Given the description of an element on the screen output the (x, y) to click on. 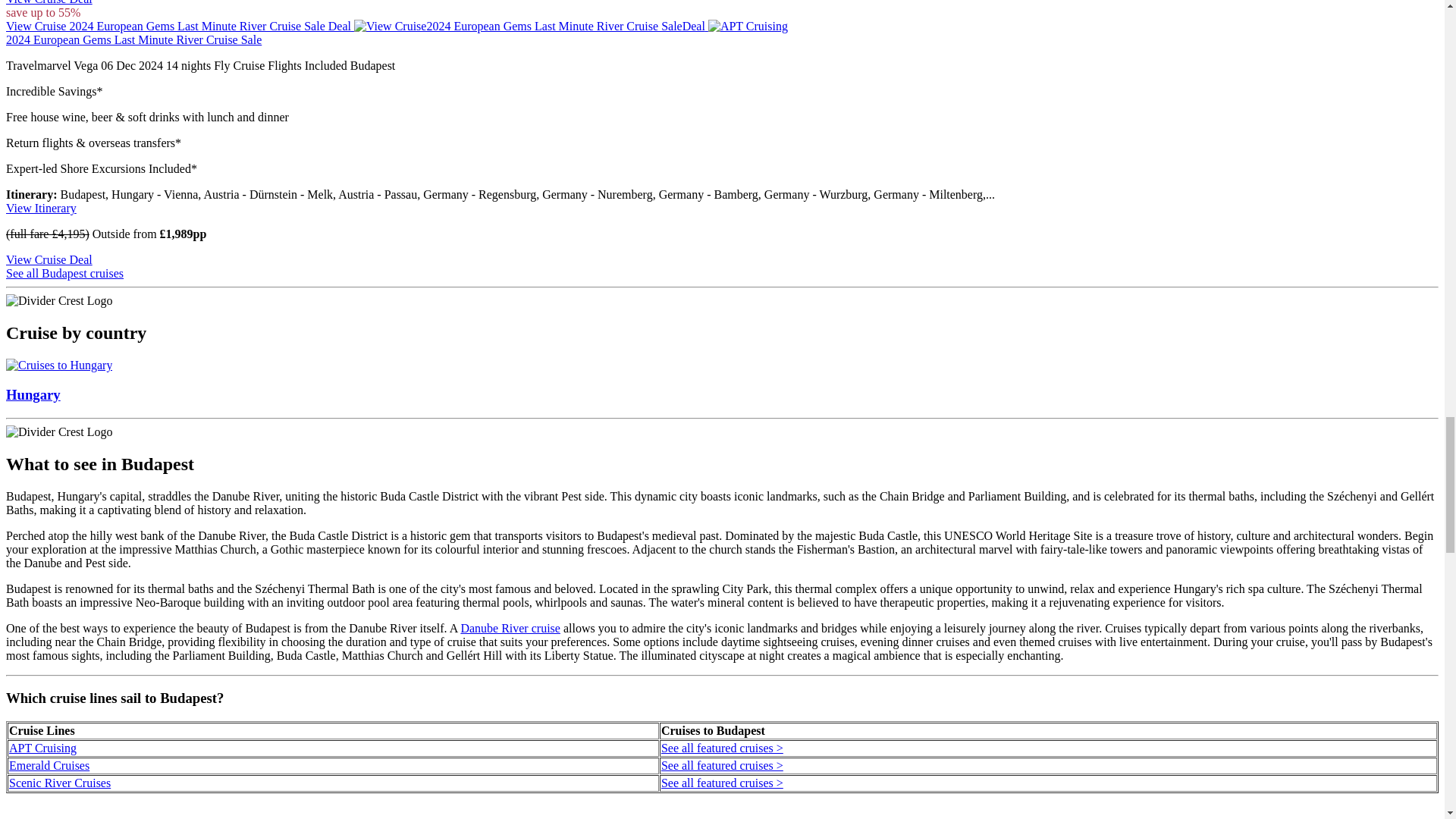
2024 European Gems Last Minute River Cruise Sale (133, 39)
View APT Cruising (747, 25)
